Given the description of an element on the screen output the (x, y) to click on. 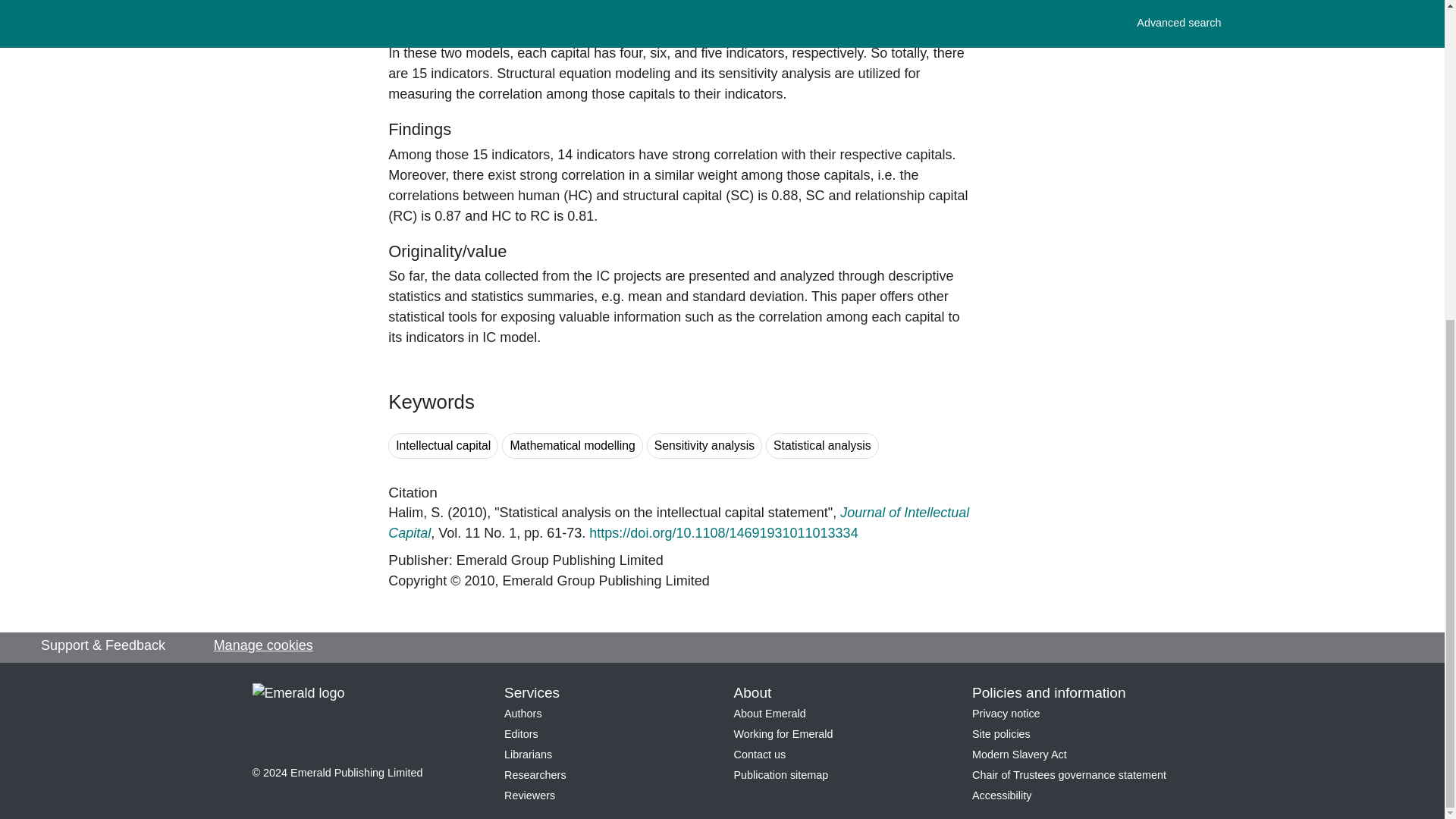
Editors (520, 734)
Sensitivity analysis (703, 446)
Researchers (534, 775)
Search for keyword Intellectual capital (442, 446)
Publication sitemap (780, 775)
Intellectual capital (442, 446)
Statistical analysis (822, 446)
Journal of Intellectual Capital (678, 522)
About Emerald (769, 713)
Search for keyword Mathematical modelling (572, 446)
Authors (522, 713)
Privacy notice (1006, 713)
Siana Halim (416, 512)
Search for keyword Sensitivity analysis (703, 446)
Search for keyword Statistical analysis (822, 446)
